Given the description of an element on the screen output the (x, y) to click on. 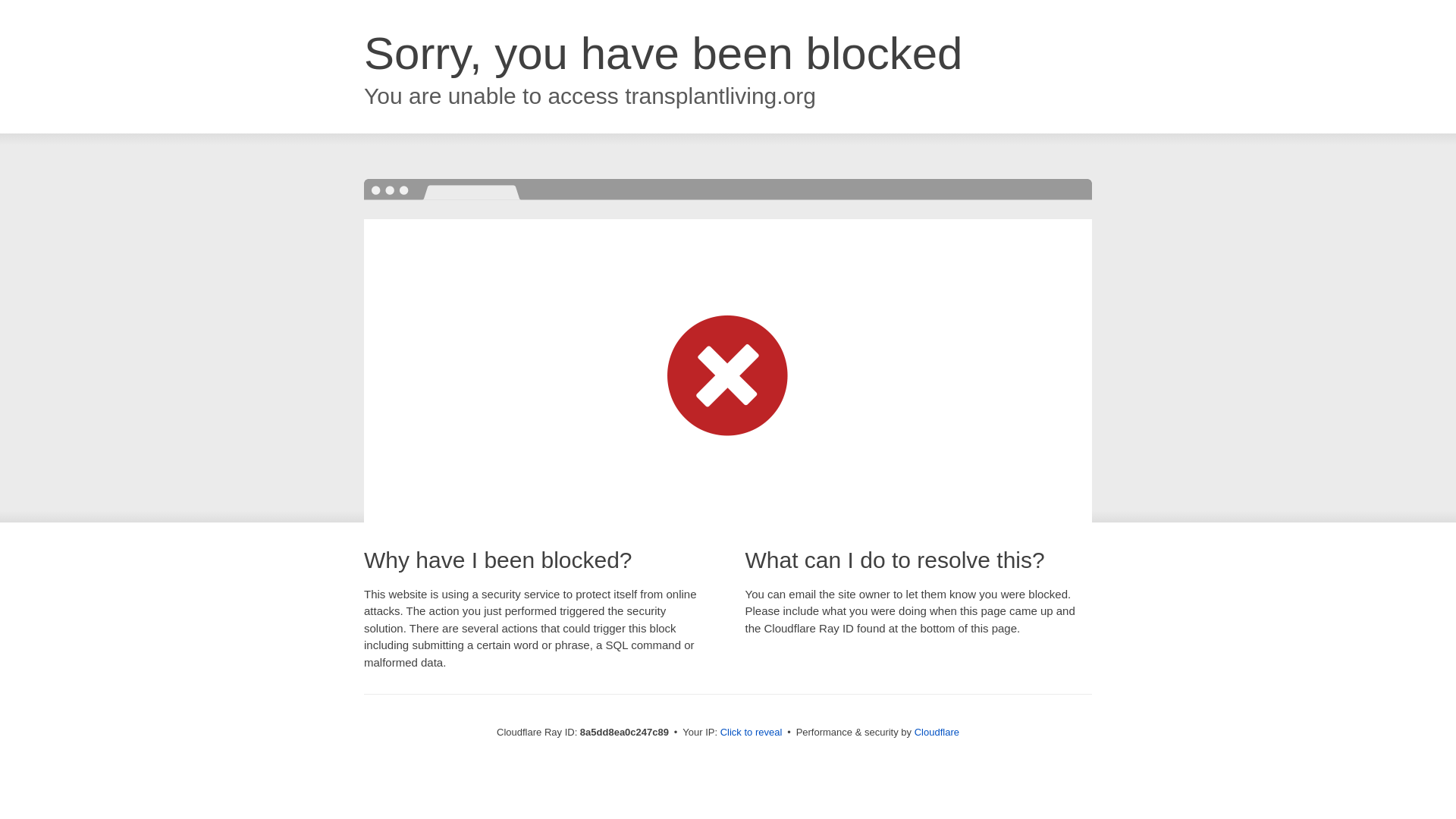
Click to reveal (751, 732)
Cloudflare (936, 731)
